Given the description of an element on the screen output the (x, y) to click on. 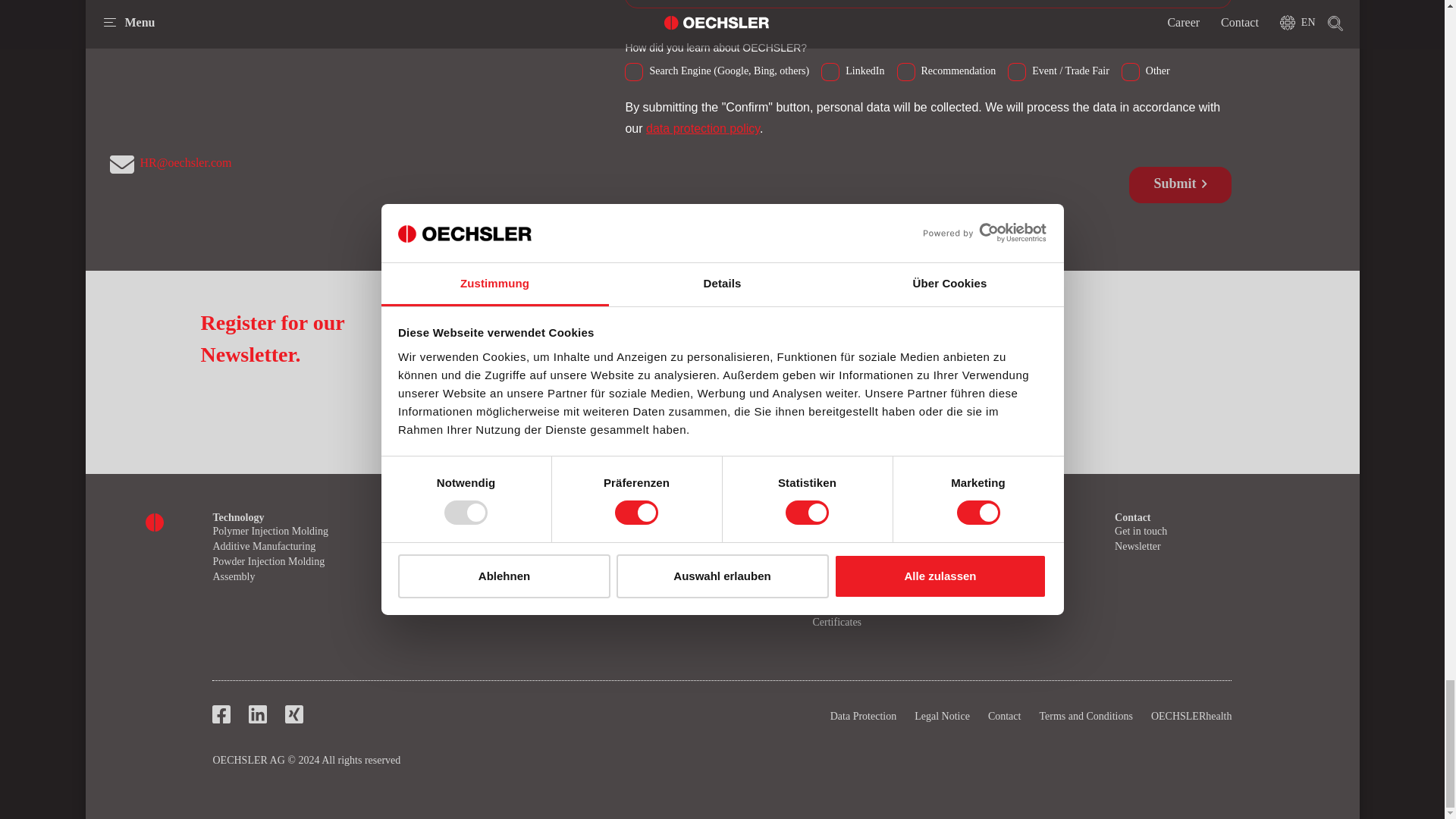
LinkedIn (829, 68)
Recommendation (905, 68)
Other (1129, 68)
